Given the description of an element on the screen output the (x, y) to click on. 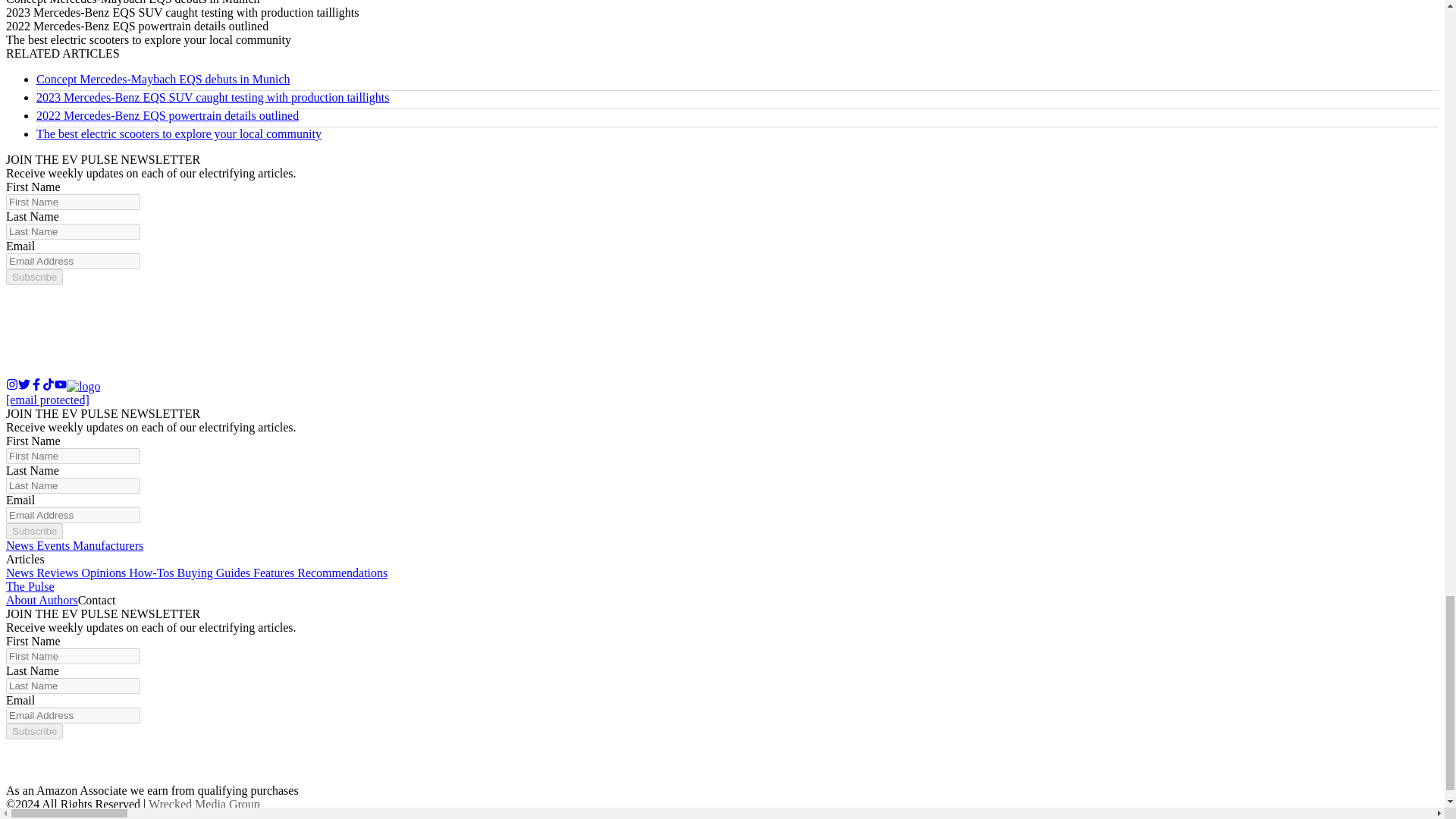
Subscribe (33, 731)
Subscribe (33, 530)
Subscribe (33, 277)
